Given the description of an element on the screen output the (x, y) to click on. 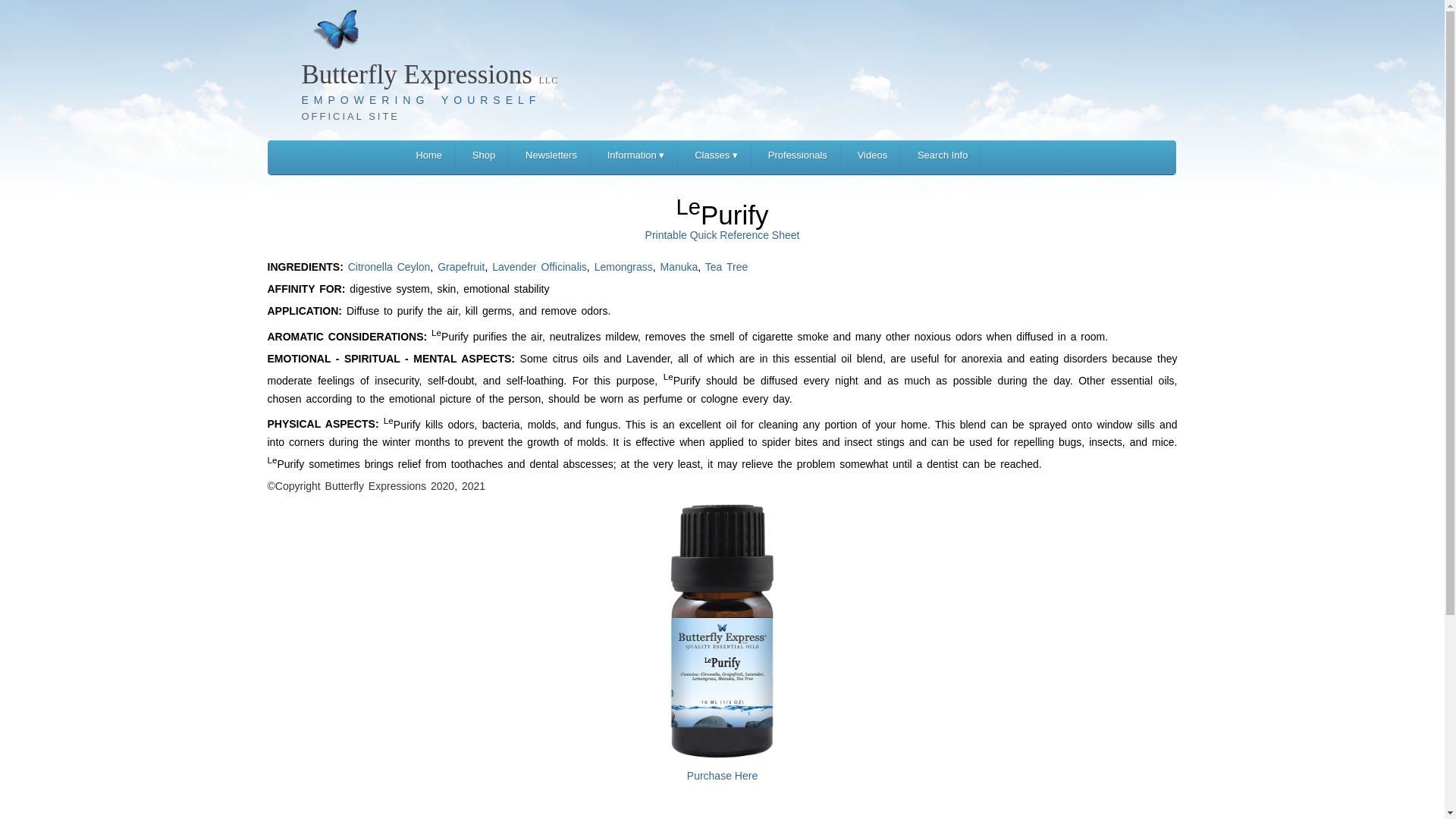
Lavender Officinalis (539, 266)
Citronella Ceylon (388, 266)
Search Info (941, 156)
Professionals (797, 156)
Lemongrass (623, 266)
Purchase Here (721, 768)
Tea Tree (726, 266)
Home (428, 156)
Printable Quick Reference Sheet (722, 234)
Manuka (678, 266)
Videos (871, 156)
Newsletters (550, 156)
Shop (484, 156)
Grapefruit (461, 266)
